Given the description of an element on the screen output the (x, y) to click on. 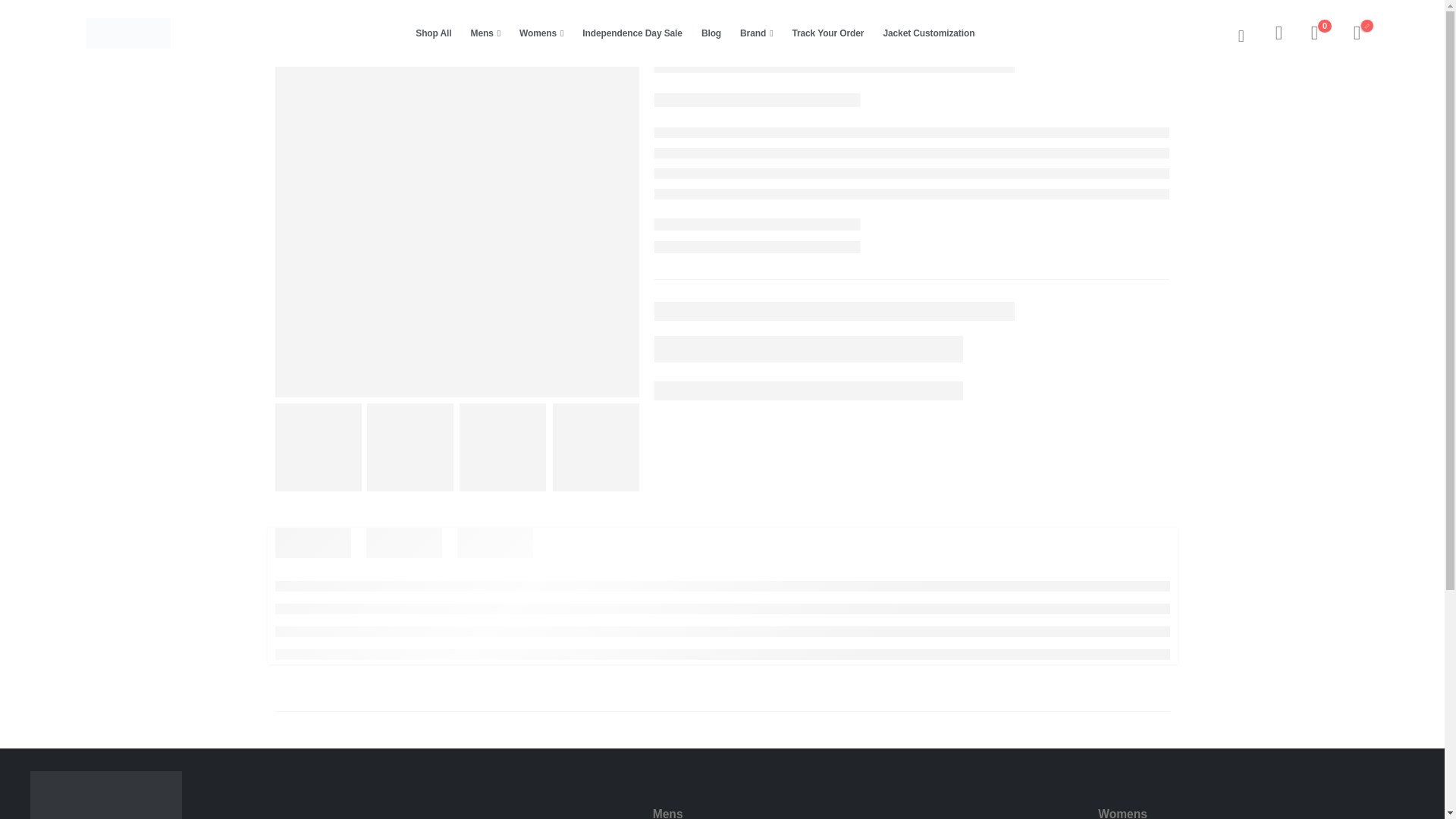
Jackets Paradise -  (127, 33)
Wishlist (1314, 33)
Shop All (433, 33)
My Account (1278, 33)
Mens (485, 33)
Womens (541, 33)
